Given the description of an element on the screen output the (x, y) to click on. 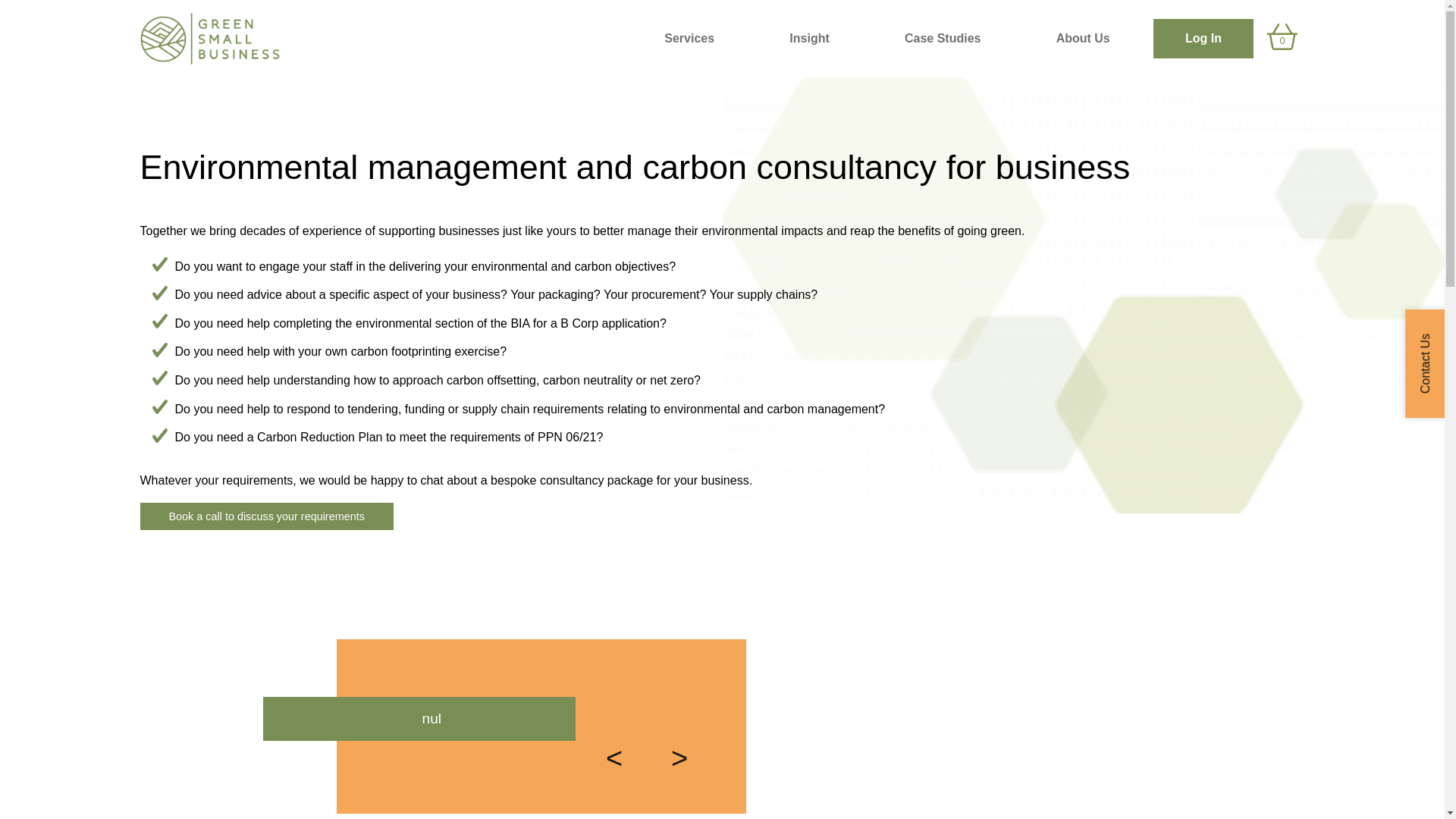
About Us (1083, 38)
Book a call to discuss your requirements (266, 515)
Insight (809, 38)
Shopping cart (1281, 38)
Book a call to discuss your requirements (266, 515)
Case Studies (941, 38)
Log In (1202, 38)
Services (689, 38)
